Given the description of an element on the screen output the (x, y) to click on. 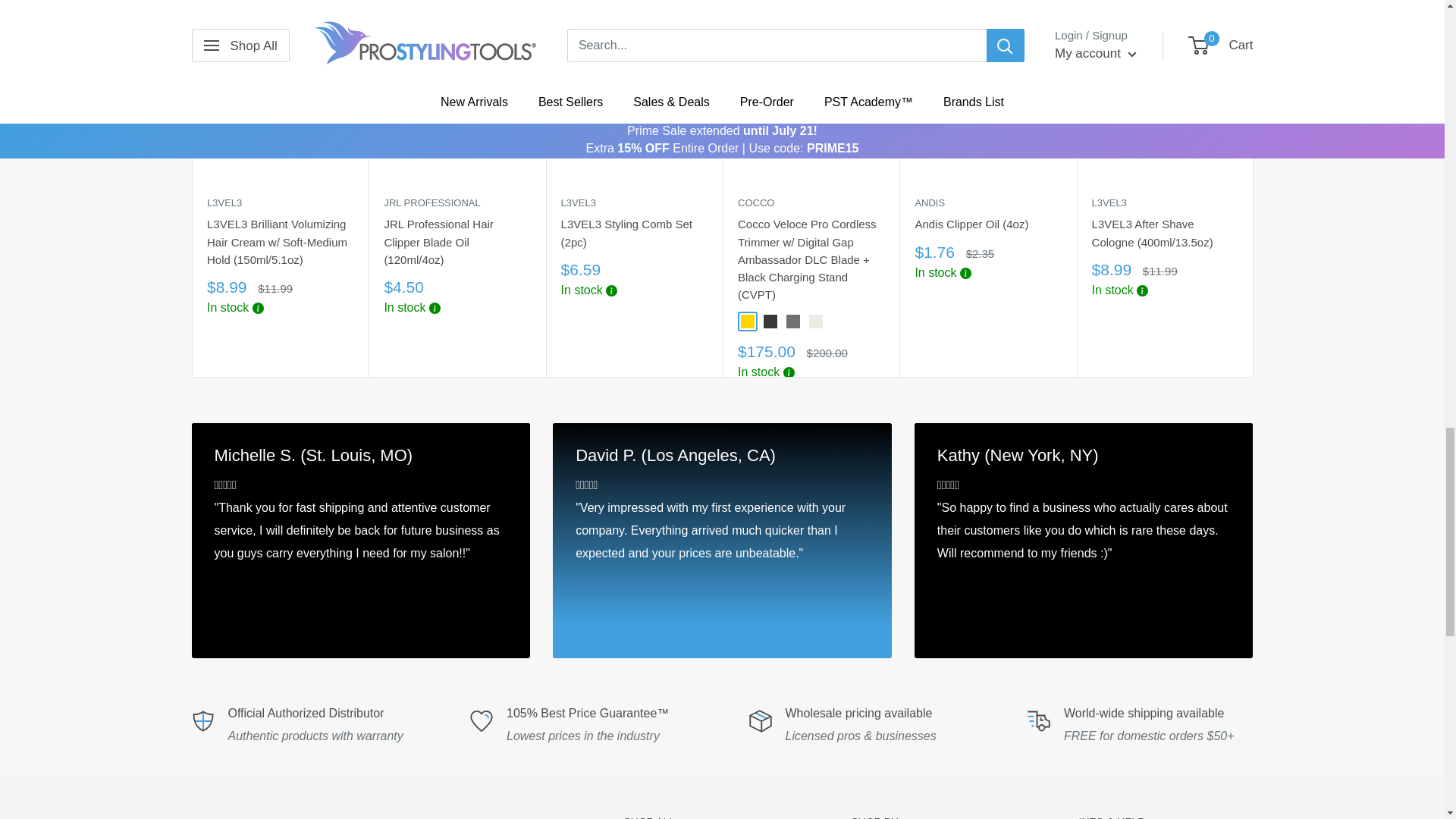
Matte Black (769, 322)
Gold (746, 322)
Matte Grey (792, 322)
Pearl White (815, 322)
